Given the description of an element on the screen output the (x, y) to click on. 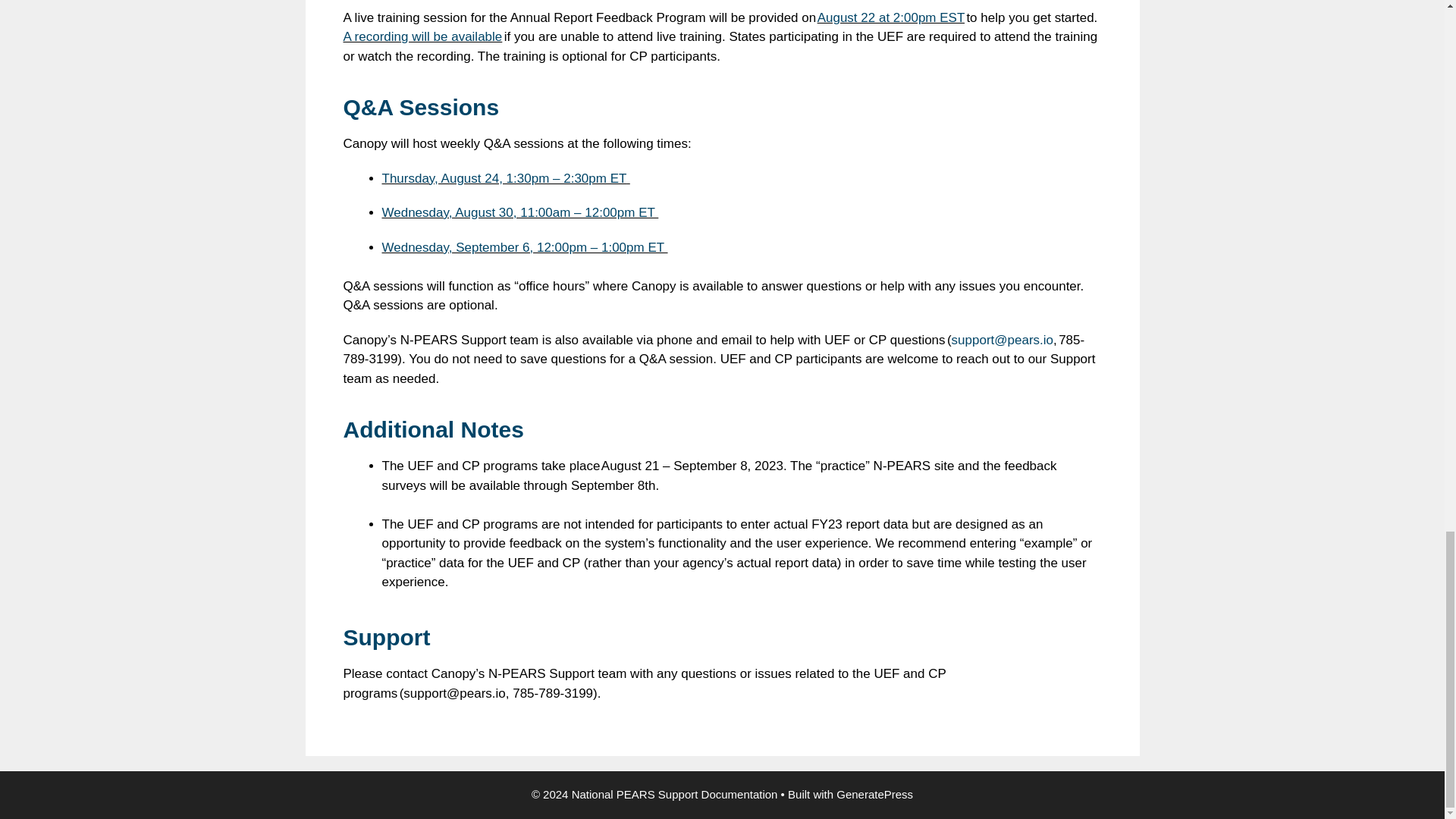
GeneratePress (873, 793)
A recording will be available (422, 36)
August 22 at 2:00pm EST (889, 17)
